Given the description of an element on the screen output the (x, y) to click on. 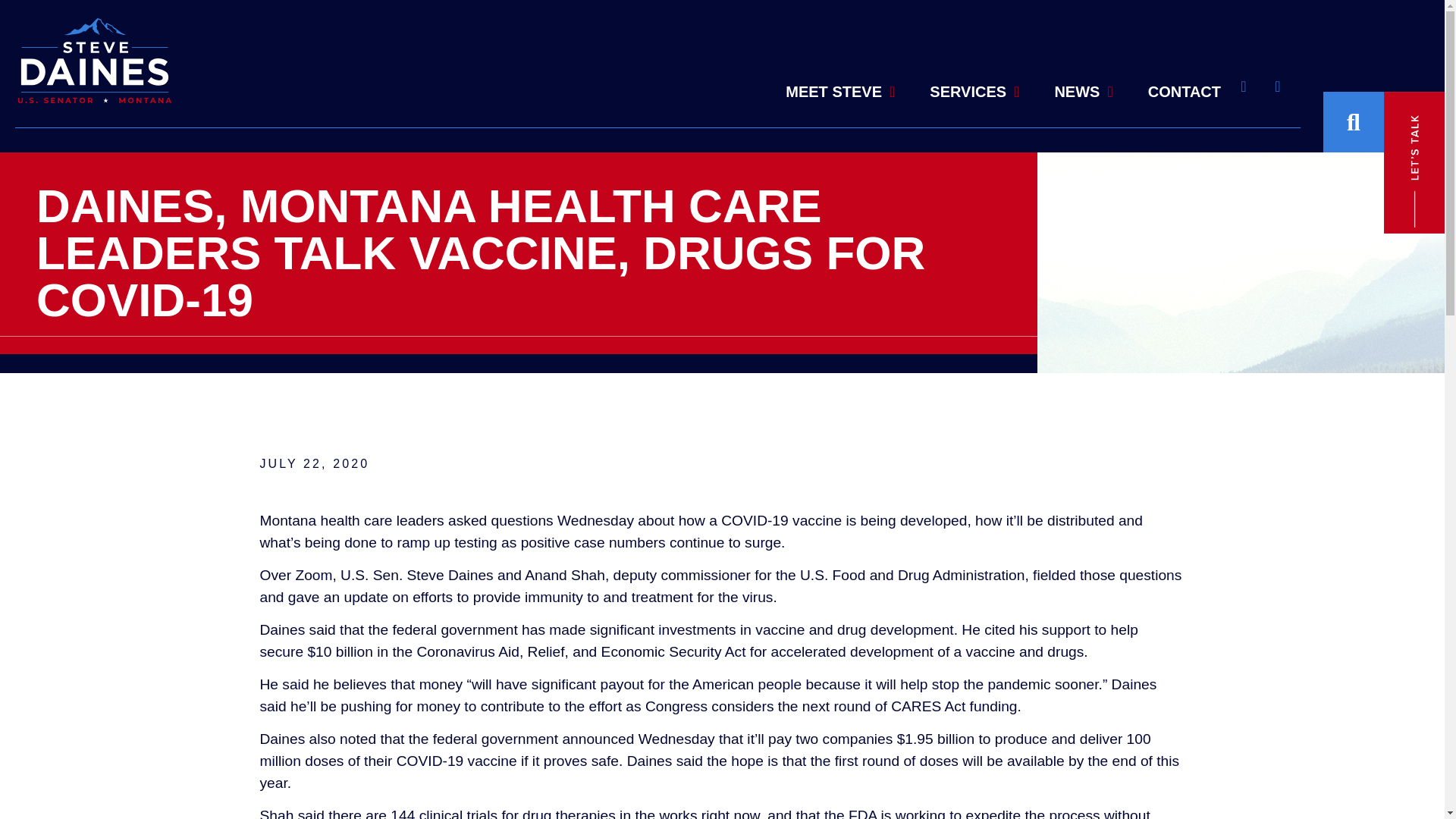
NEWS (1082, 86)
MEET STEVE (840, 58)
CONTACT (1184, 90)
SERVICES (973, 65)
